Given the description of an element on the screen output the (x, y) to click on. 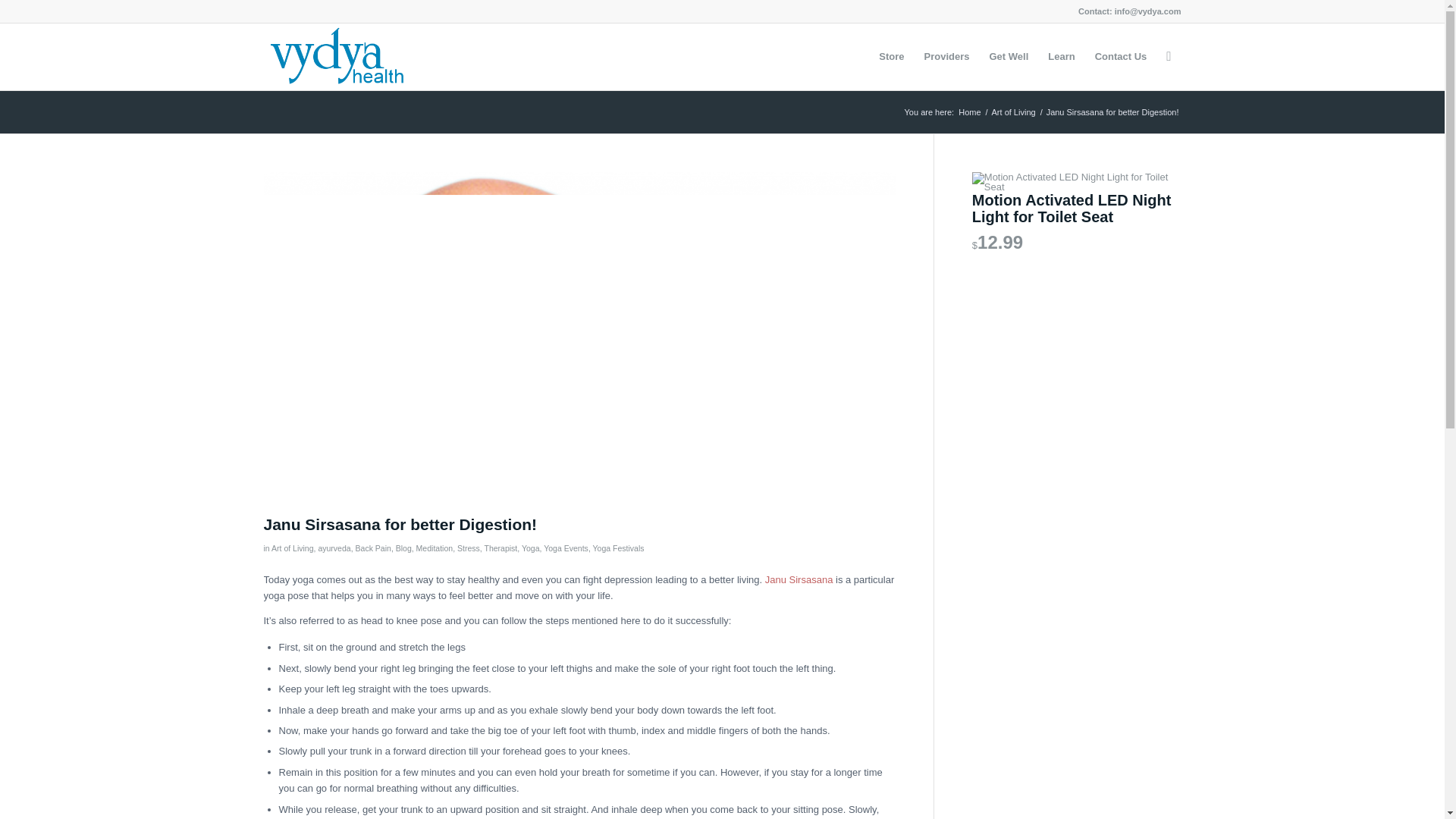
Vydya Health - Find Providers, Products. (969, 112)
Vydya Health (336, 56)
Providers (946, 56)
